Given the description of an element on the screen output the (x, y) to click on. 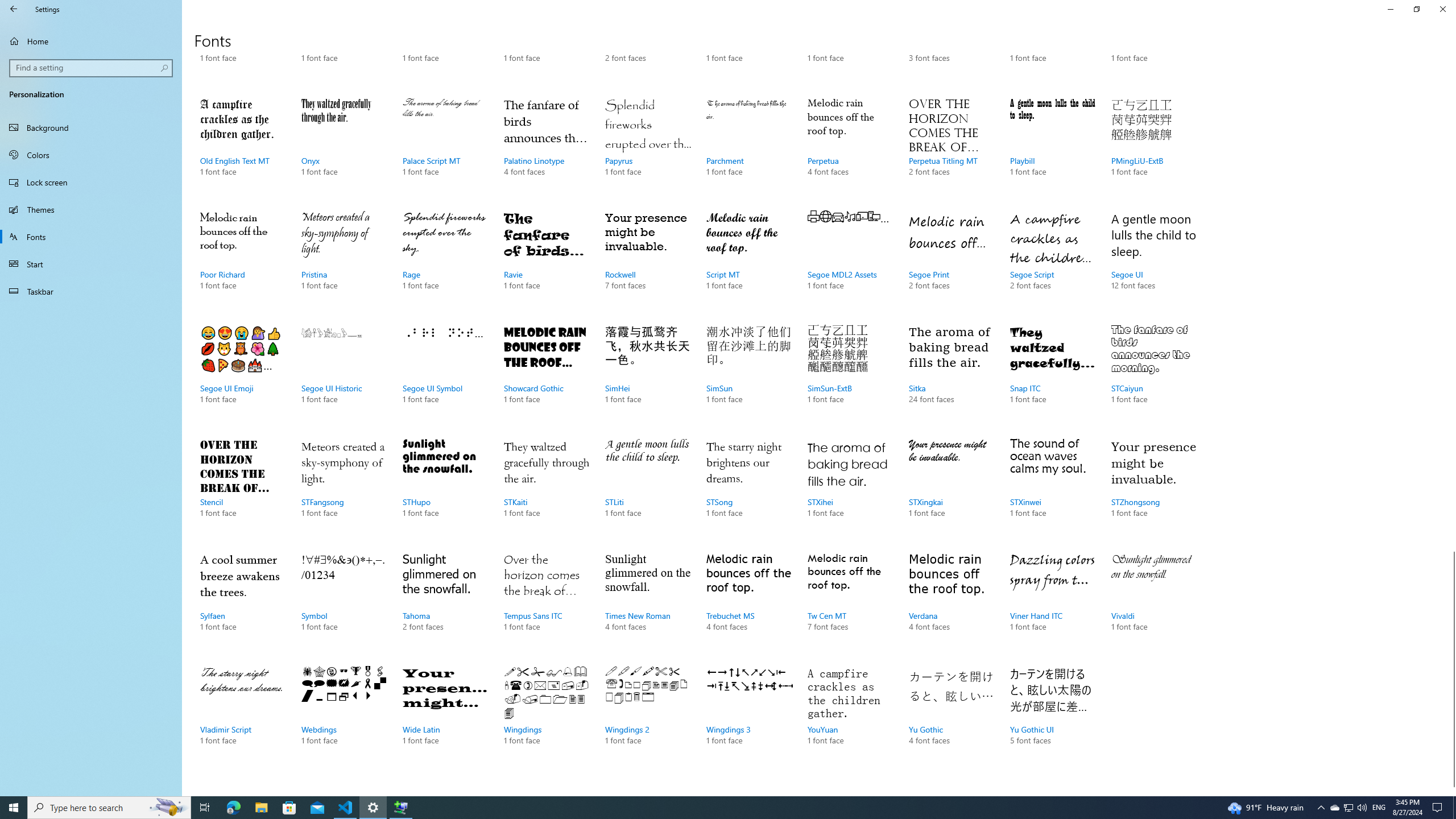
Parchment, 1 font face (748, 148)
Restore Settings (1416, 9)
Ravie, 1 font face (545, 262)
Palatino Linotype, 4 font faces (545, 148)
Rage, 1 font face (445, 262)
Myanmar Text, 2 font faces (647, 45)
Start (13, 807)
STXingkai, 1 font face (951, 489)
Start (91, 263)
Webdings, 1 font face (343, 716)
Pristina, 1 font face (343, 262)
Vivaldi, 1 font face (1153, 603)
Segoe Print, 2 font faces (951, 262)
